Given the description of an element on the screen output the (x, y) to click on. 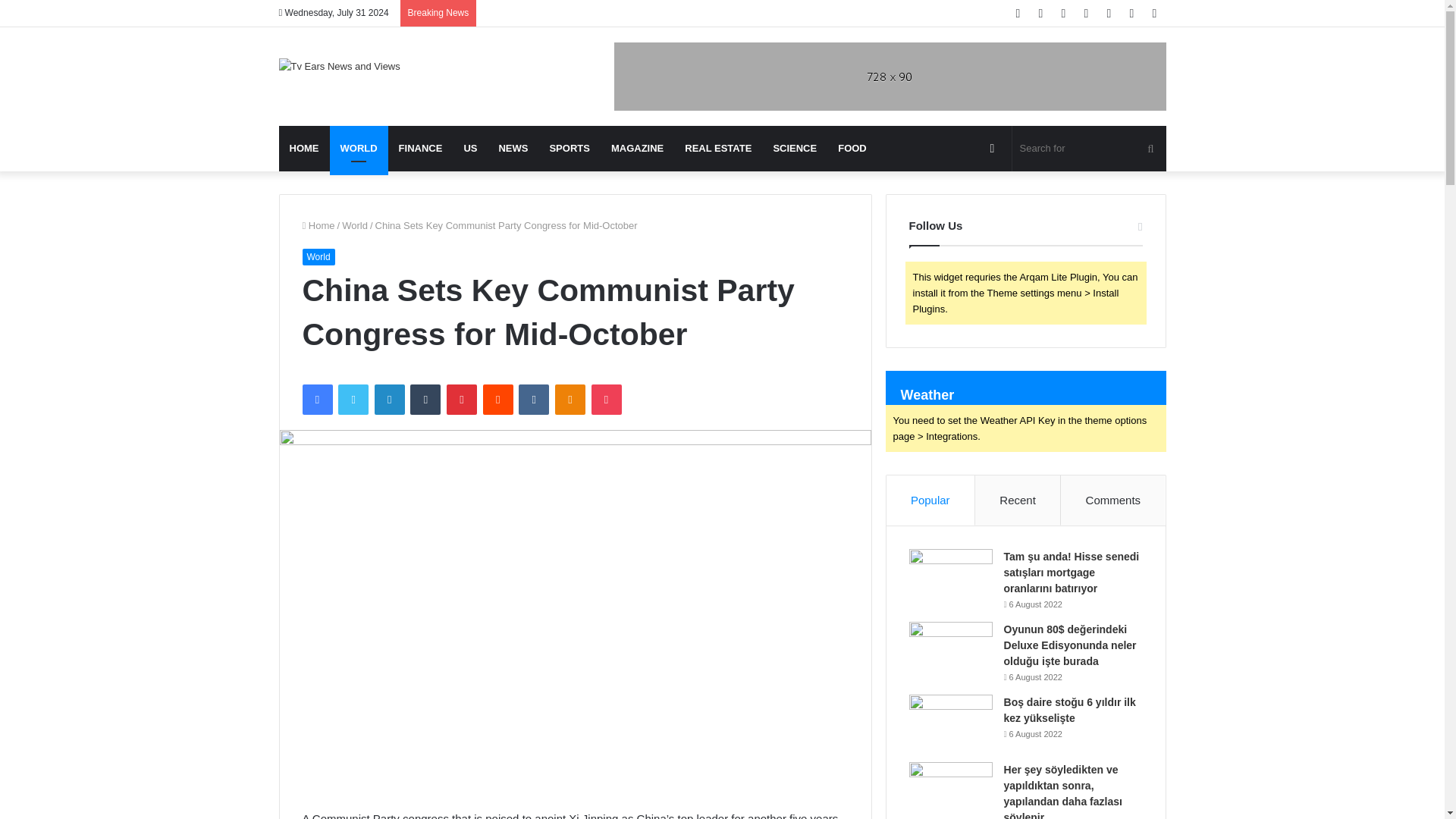
Tumblr (425, 399)
Twitter (352, 399)
Odnoklassniki (569, 399)
REAL ESTATE (717, 148)
LinkedIn (389, 399)
Facebook (316, 399)
Search for (1088, 148)
FOOD (852, 148)
Twitter (352, 399)
SCIENCE (794, 148)
HOME (304, 148)
World (317, 256)
VKontakte (533, 399)
Facebook (316, 399)
LinkedIn (389, 399)
